Given the description of an element on the screen output the (x, y) to click on. 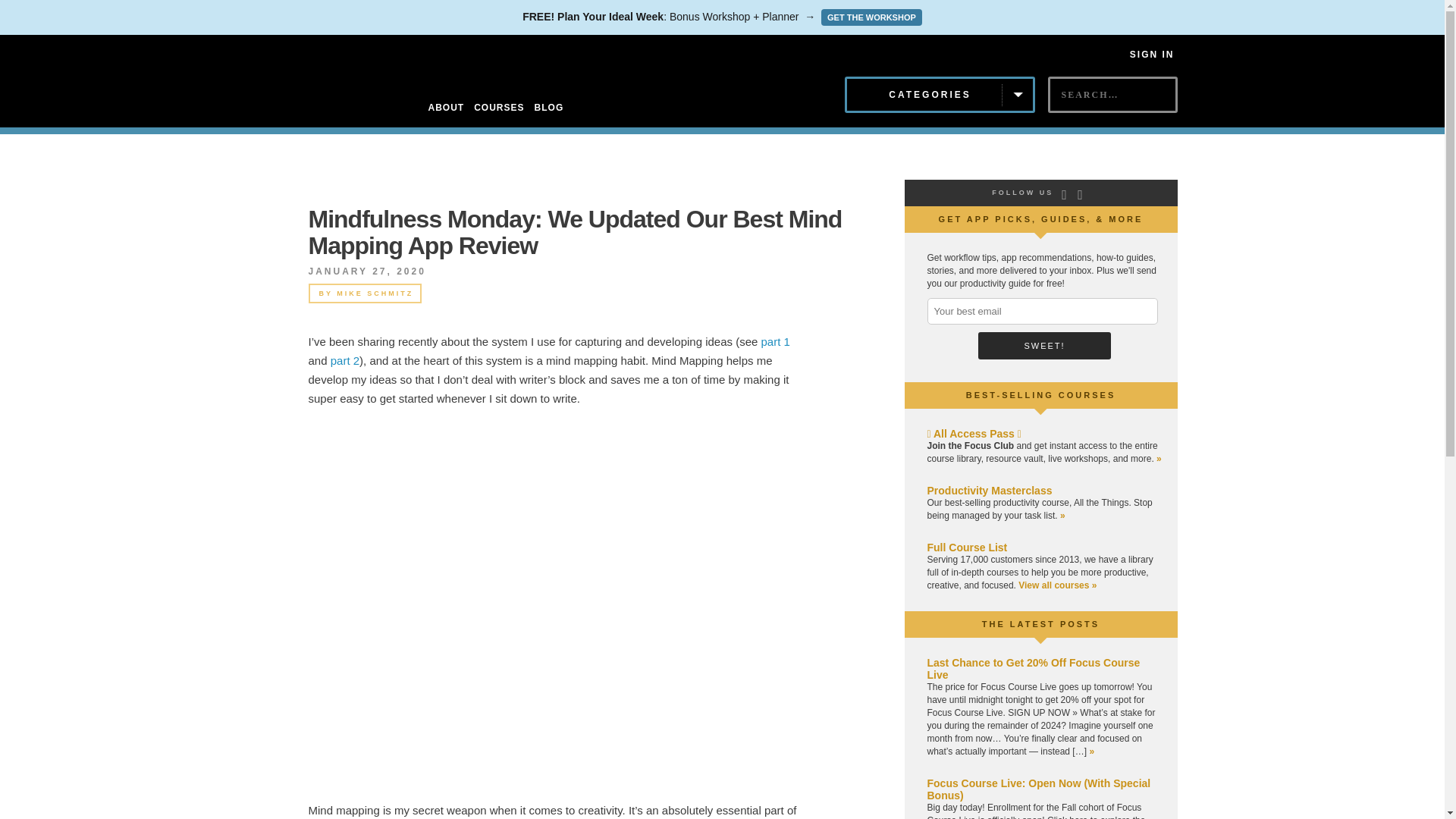
COURSES (499, 107)
part 2 (344, 359)
BEST-SELLING COURSES (1041, 394)
Sweet! (1044, 345)
CATEGORIES (939, 94)
BLOG (549, 107)
THE LATEST POSTS (1040, 623)
ABOUT (446, 107)
GET THE WORKSHOP (871, 17)
SIGN IN (1151, 53)
